Given the description of an element on the screen output the (x, y) to click on. 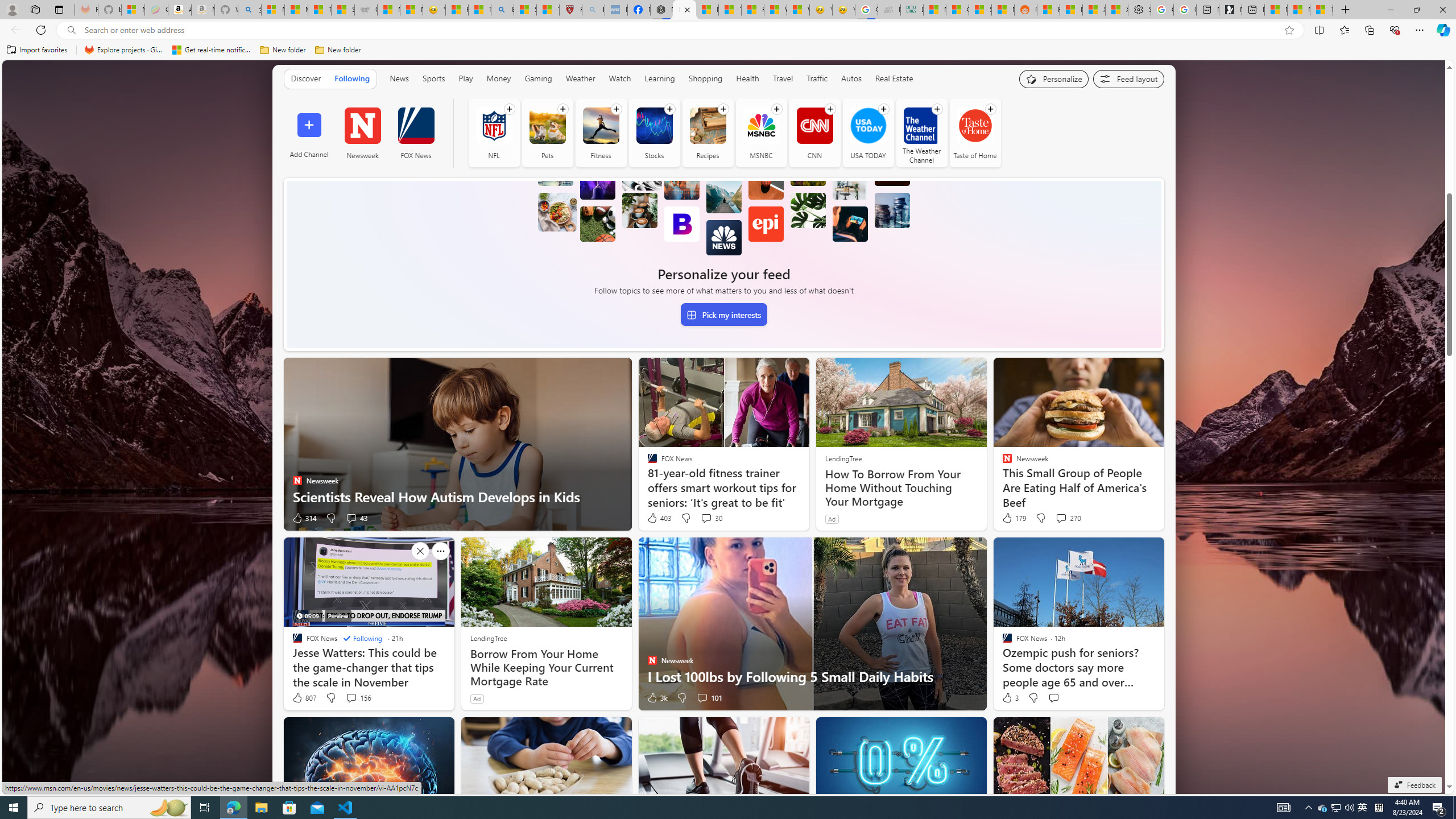
View comments 101 Comment (708, 697)
AutomationID: backgroundImagePicture (723, 426)
3 Like (1009, 697)
NFL (494, 125)
FOX News (416, 133)
Fitness - MSN (752, 9)
